Given the description of an element on the screen output the (x, y) to click on. 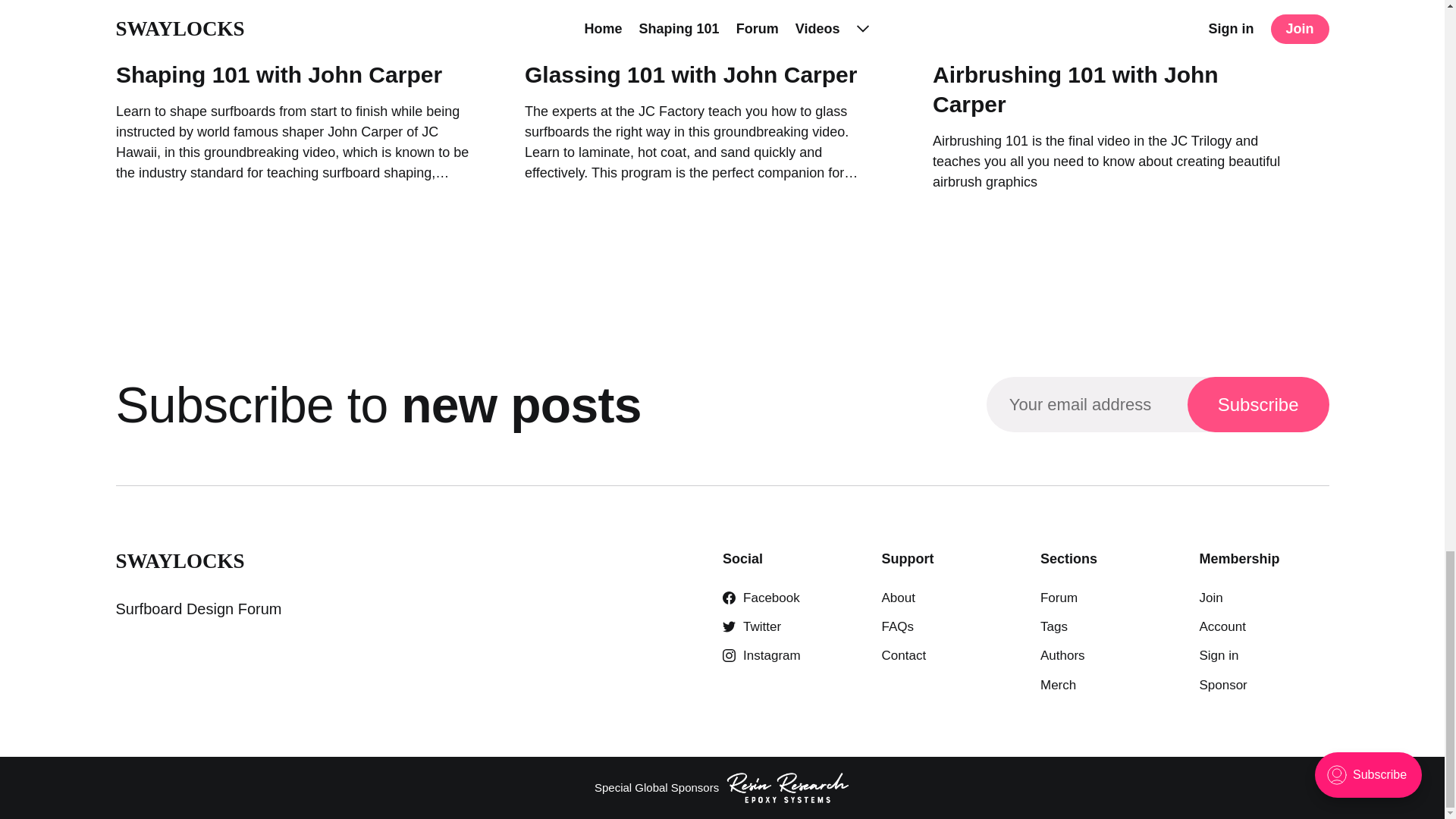
Glassing 101 with John Carper (690, 73)
Carl Ackerman (643, 35)
Videos (256, 35)
Shaping 101 with John Carper (278, 73)
PPV (211, 35)
John Carper (152, 35)
PPV (708, 35)
John Carper (560, 35)
